Given the description of an element on the screen output the (x, y) to click on. 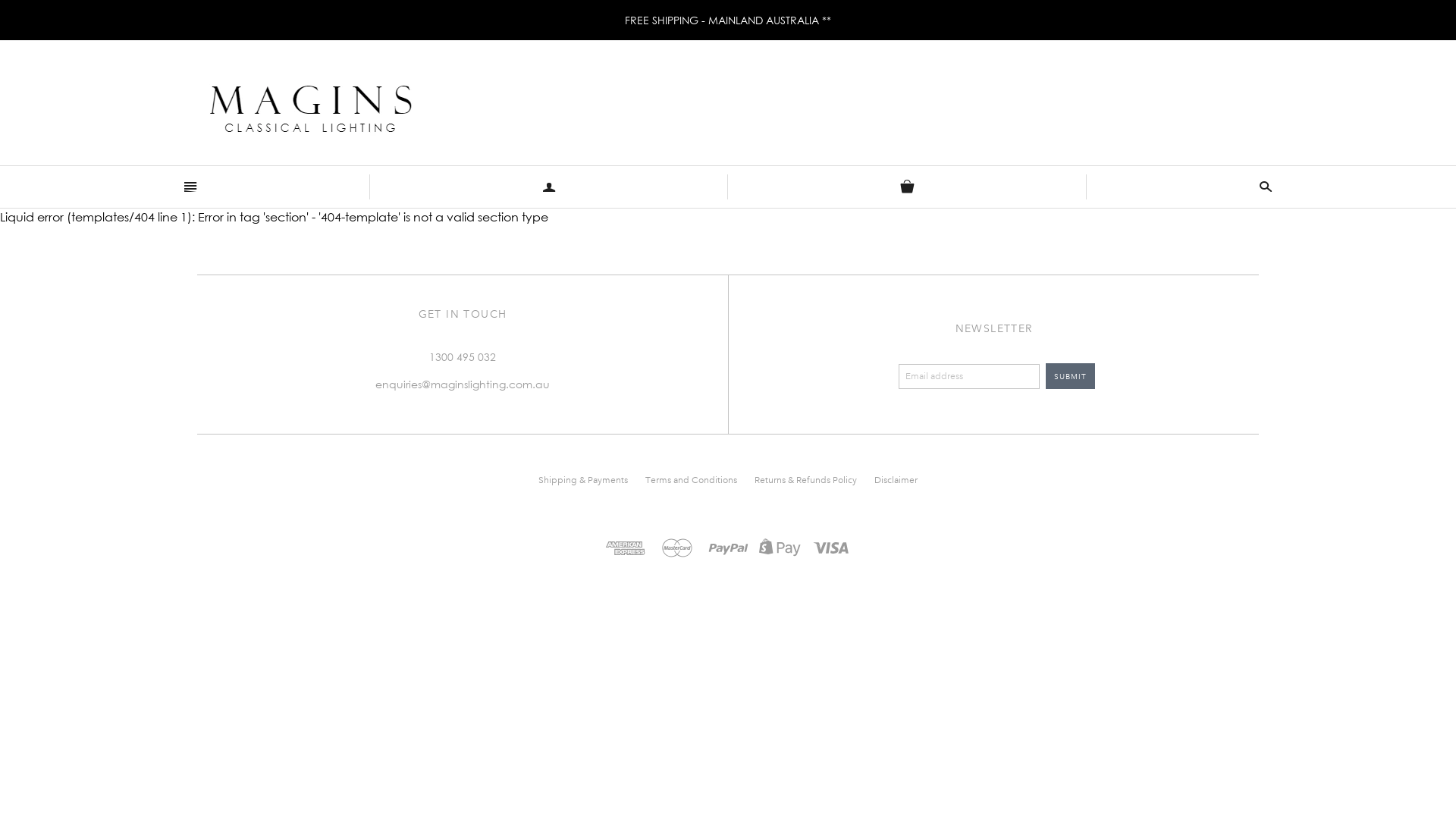
a Element type: text (549, 186)
Returns & Refunds Policy Element type: text (805, 480)
Submit Element type: text (1070, 376)
enquiries@maginslighting.com.au Element type: text (462, 383)
Bag Icon Element type: text (907, 186)
Shipping & Payments Element type: text (582, 480)
Terms and Conditions Element type: text (691, 480)
Disclaimer Element type: text (895, 480)
